Given the description of an element on the screen output the (x, y) to click on. 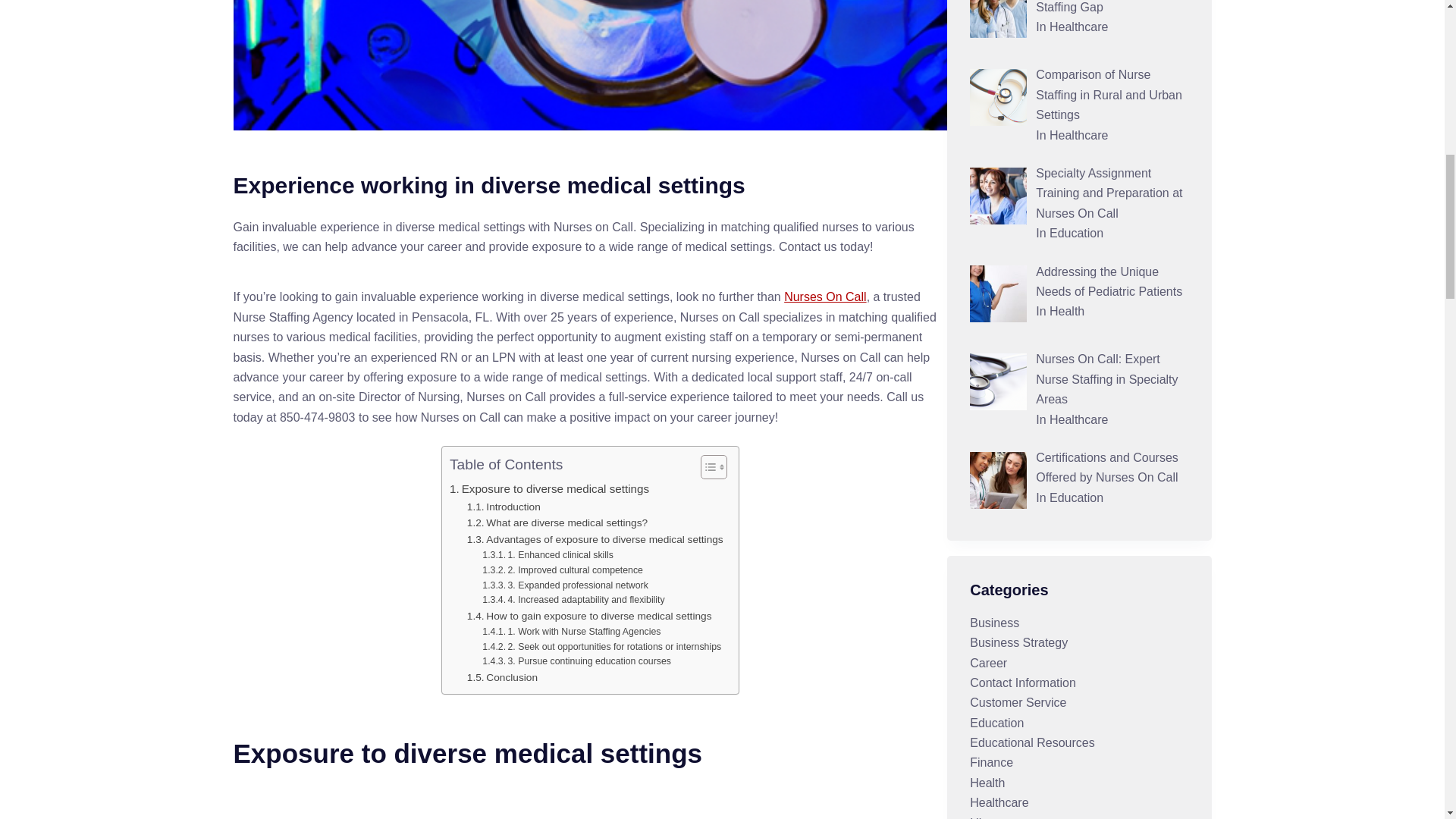
2. Improved cultural competence (562, 570)
Introduction (503, 506)
How to gain exposure to diverse medical settings (589, 616)
1. Work with Nurse Staffing Agencies (571, 631)
1. Enhanced clinical skills (546, 555)
Nurses On Call (825, 296)
3. Expanded professional network (564, 585)
4. Increased adaptability and flexibility (572, 600)
What are diverse medical settings? (557, 523)
3. Pursue continuing education courses (576, 661)
2. Seek out opportunities for rotations or internships (600, 647)
Experience working in diverse medical settings (589, 185)
2. Improved cultural competence (562, 570)
Conclusion (502, 677)
Exposure to diverse medical settings (549, 488)
